Given the description of an element on the screen output the (x, y) to click on. 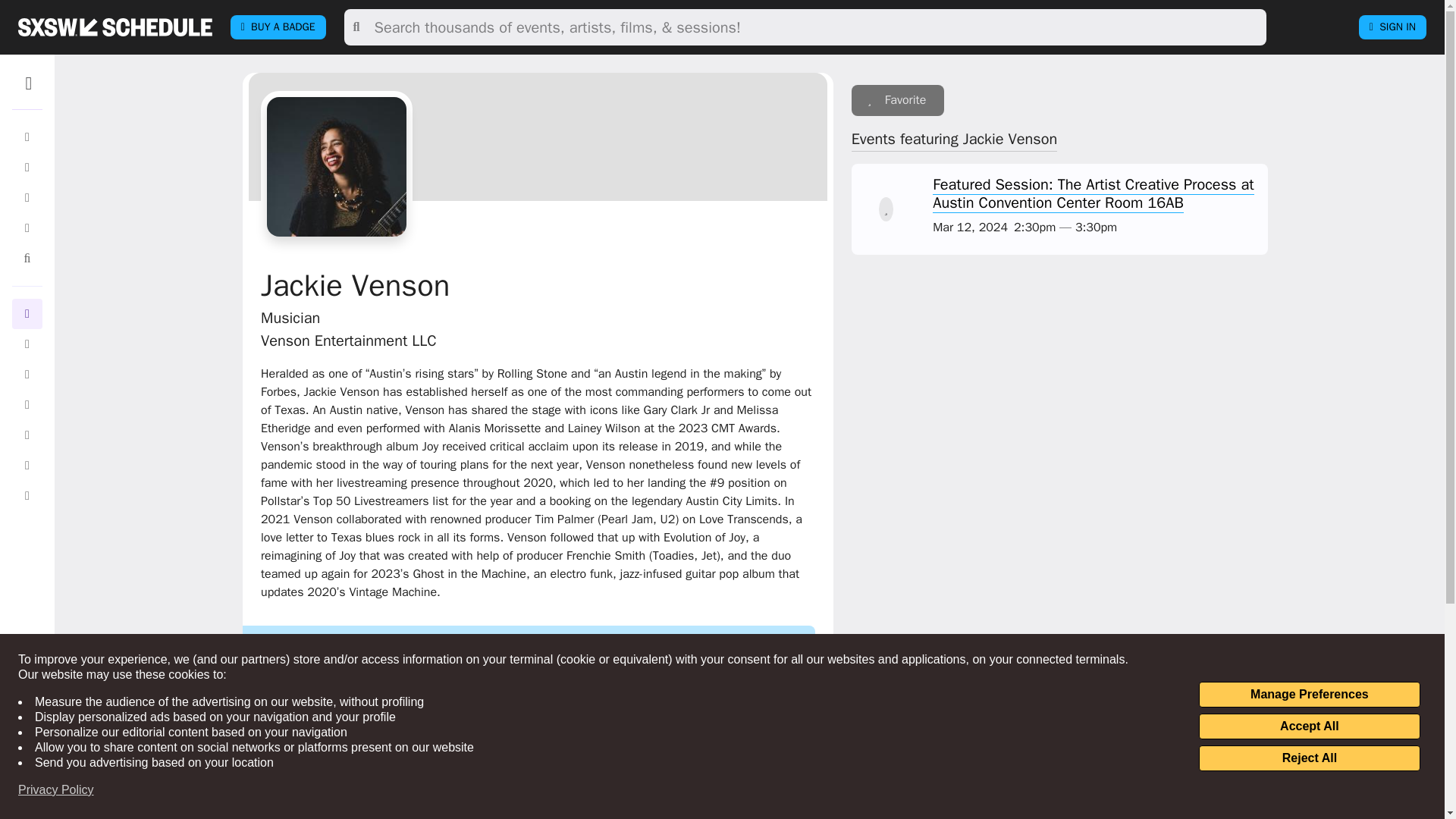
BUY A BADGE (278, 27)
Manage Preferences (1309, 694)
SIGN IN (1392, 27)
Reject All (1309, 758)
sxsw SCHEDULE (114, 27)
Privacy Policy (55, 789)
Sign In to add to your favorites. (897, 100)
Sign In to add to your favorites. (886, 209)
Accept All (1309, 726)
